Given the description of an element on the screen output the (x, y) to click on. 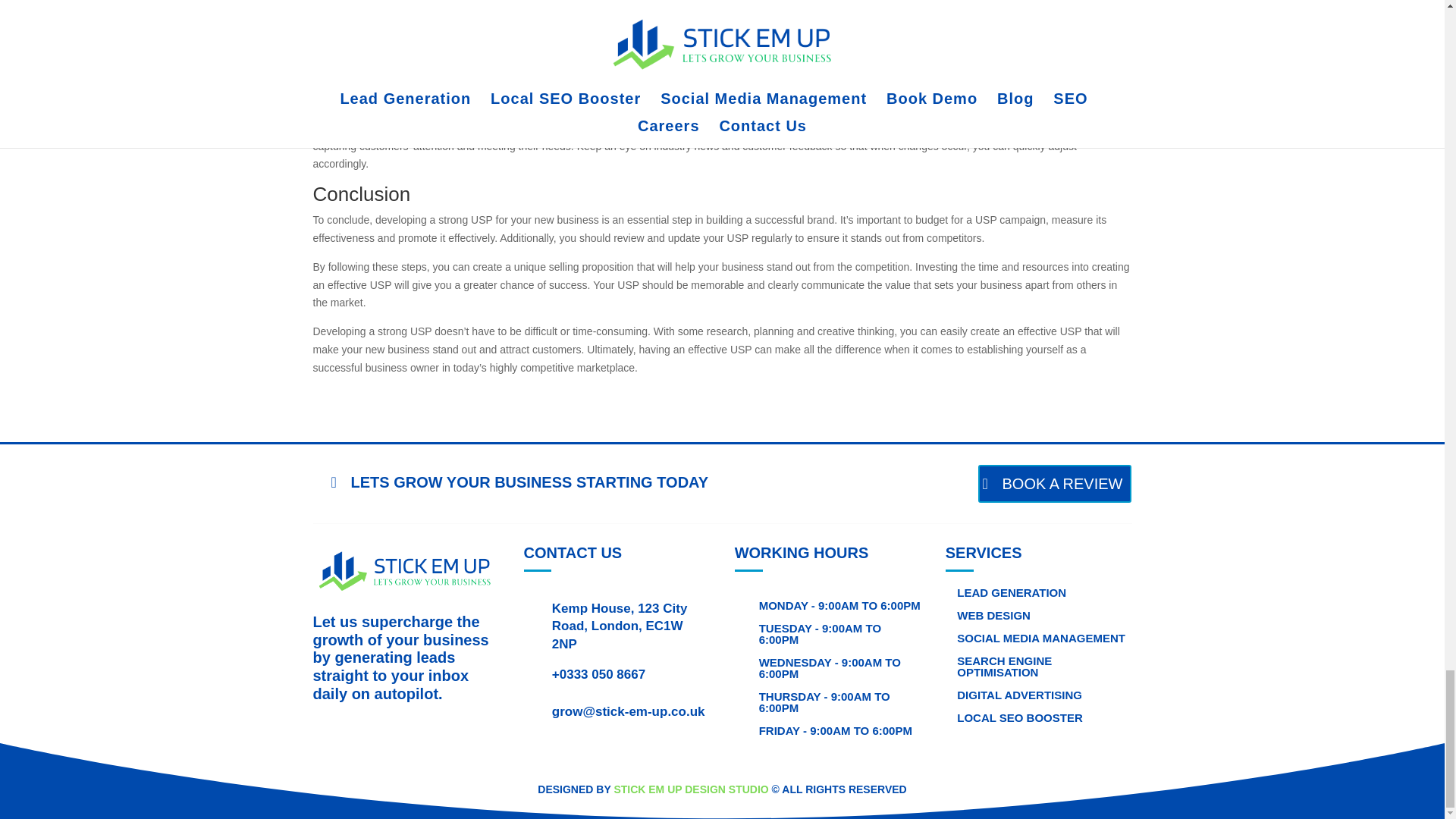
STICK EM UP DESIGN STUDIO (690, 788)
LETS GROW YOUR BUSINESS STARTING TODAY (519, 482)
BOOK A REVIEW (1055, 483)
